Given the description of an element on the screen output the (x, y) to click on. 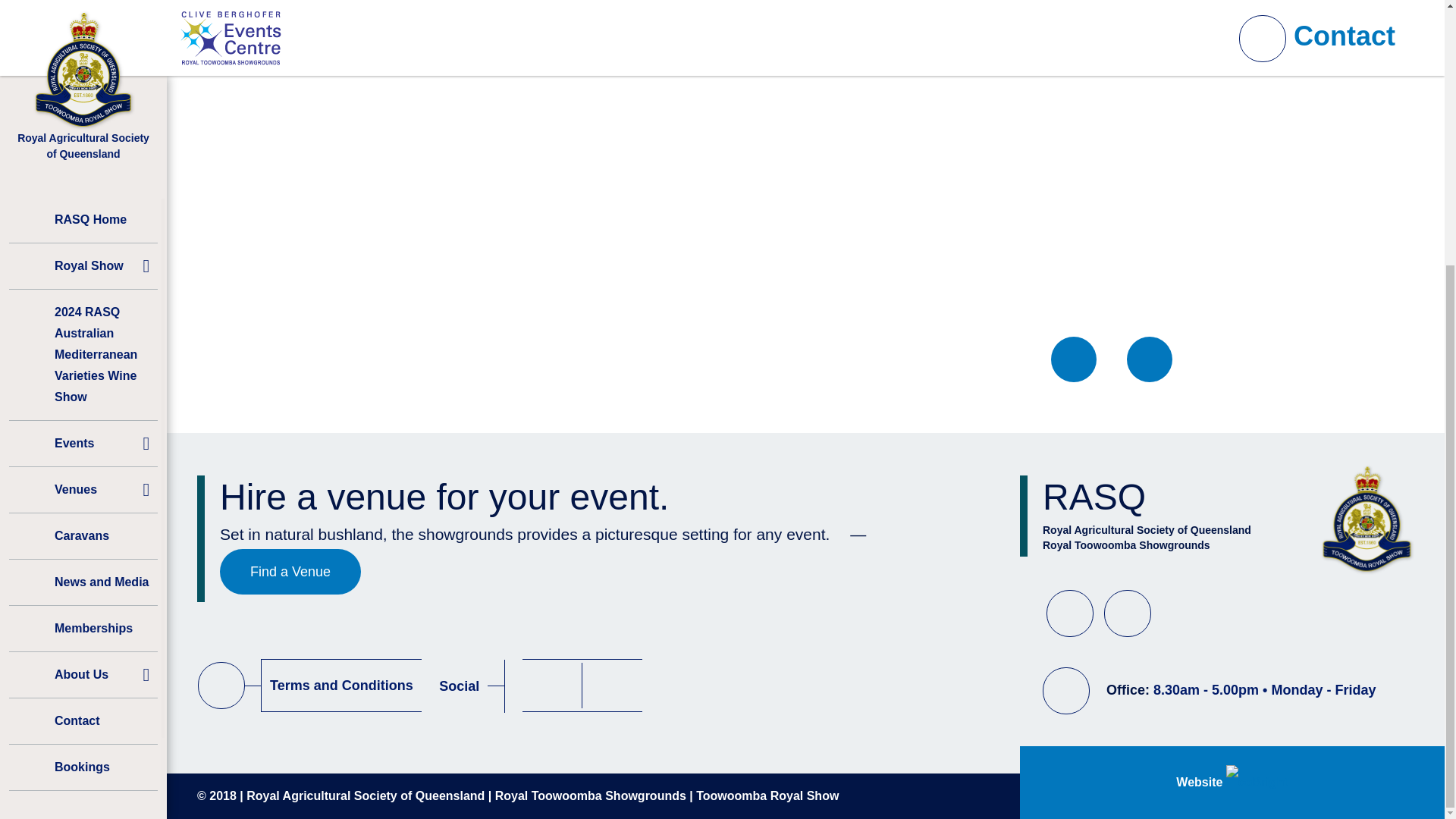
Memberships (82, 245)
Events (82, 60)
Caravans (82, 153)
click here (517, 29)
Contact (82, 338)
Bookings (82, 384)
About Us (82, 291)
Opens internal link in current window (517, 29)
Venues (82, 106)
News and Media (82, 198)
2024 RASQ Australian Mediterranean Varieties Wine Show (82, 18)
